Given the description of an element on the screen output the (x, y) to click on. 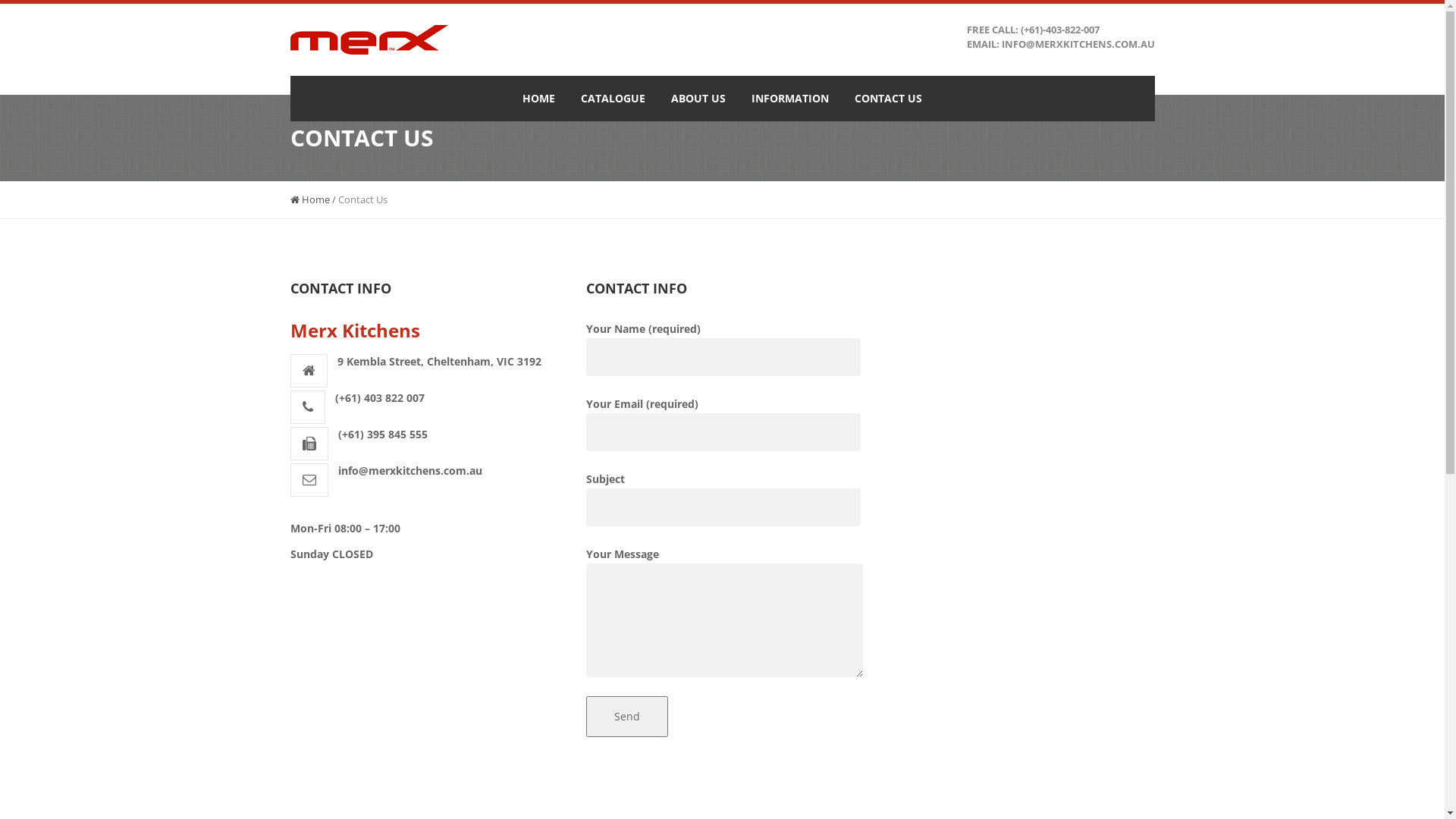
CATALOGUE Element type: text (612, 98)
Home Element type: text (309, 199)
ABOUT US Element type: text (698, 98)
Send Element type: text (626, 716)
CONTACT US Element type: text (888, 98)
INFORMATION Element type: text (789, 98)
HOME Element type: text (538, 98)
